Given the description of an element on the screen output the (x, y) to click on. 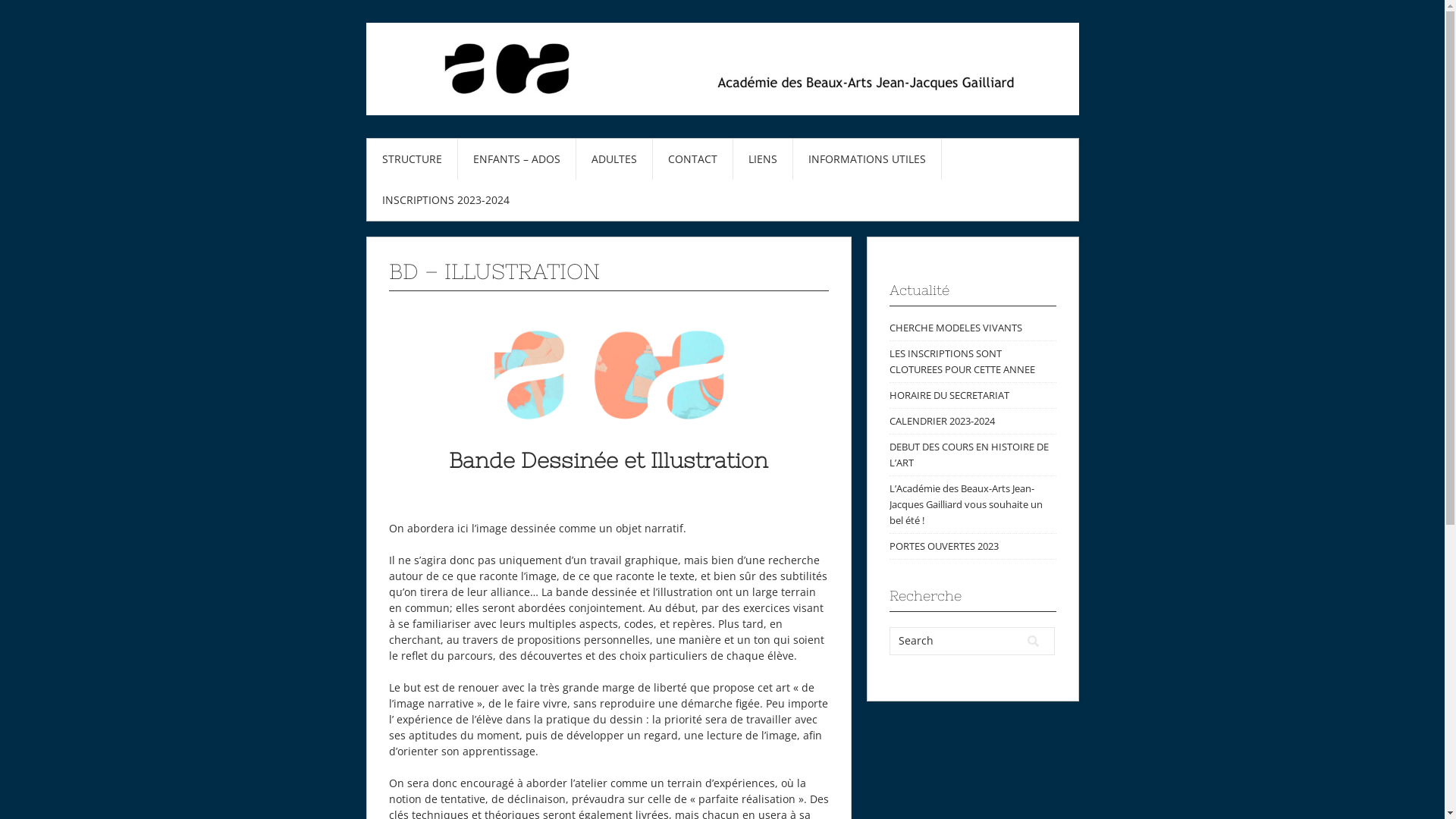
HORAIRE DU SECRETARIAT Element type: text (948, 394)
STRUCTURE Element type: text (412, 158)
INFORMATIONS UTILES Element type: text (867, 158)
PORTES OUVERTES 2023 Element type: text (942, 545)
INSCRIPTIONS 2023-2024 Element type: text (445, 199)
ADULTES Element type: text (614, 158)
LES INSCRIPTIONS SONT CLOTUREES POUR CETTE ANNEE Element type: text (961, 361)
CONTACT Element type: text (691, 158)
CALENDRIER 2023-2024 Element type: text (941, 420)
LIENS Element type: text (761, 158)
CHERCHE MODELES VIVANTS Element type: text (954, 327)
Search Element type: text (1032, 640)
